Given the description of an element on the screen output the (x, y) to click on. 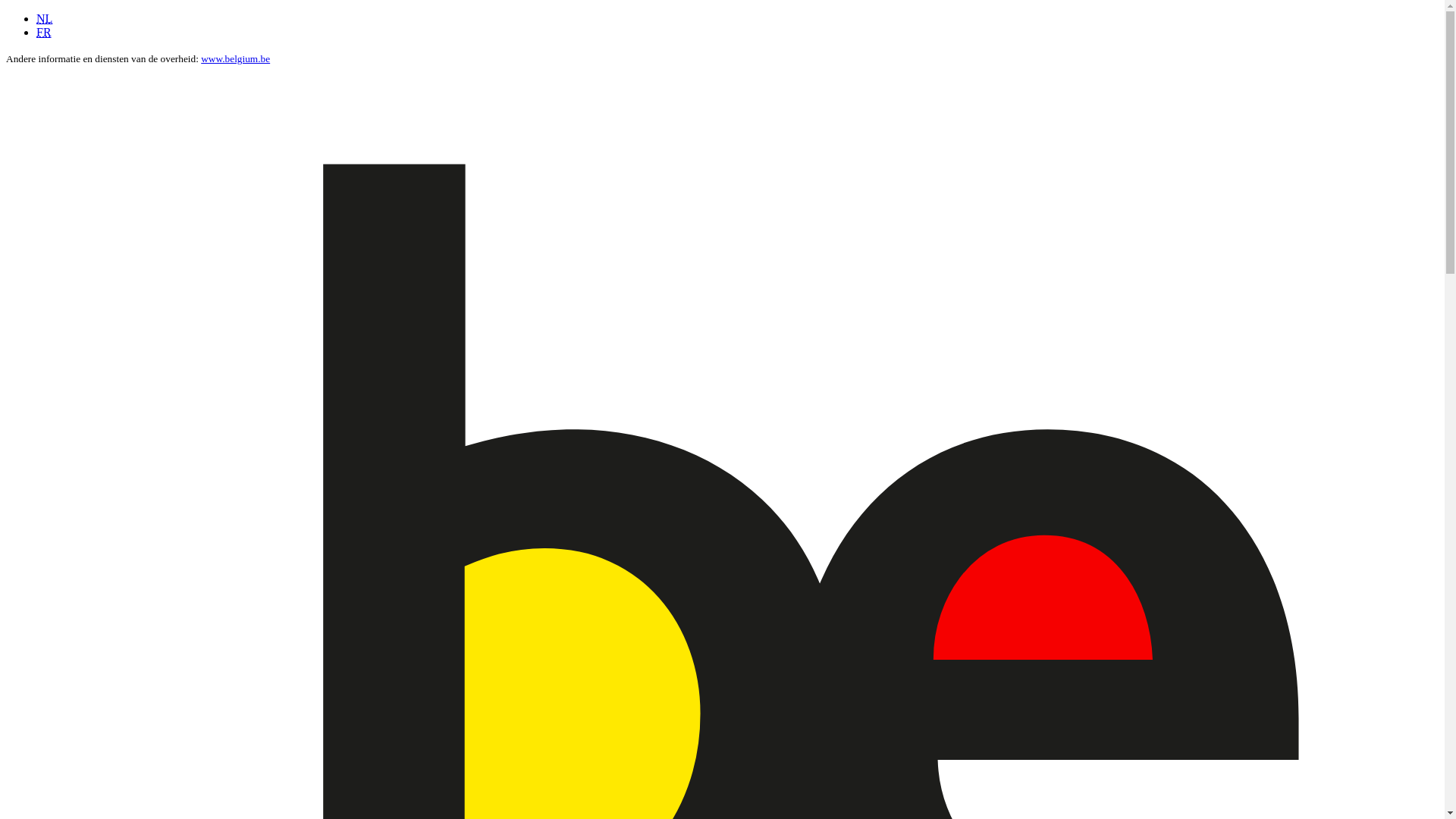
Overslaan en naar de inhoud gaan Element type: text (6, 12)
NL Element type: text (44, 18)
FR Element type: text (43, 31)
www.belgium.be Element type: text (234, 58)
